Given the description of an element on the screen output the (x, y) to click on. 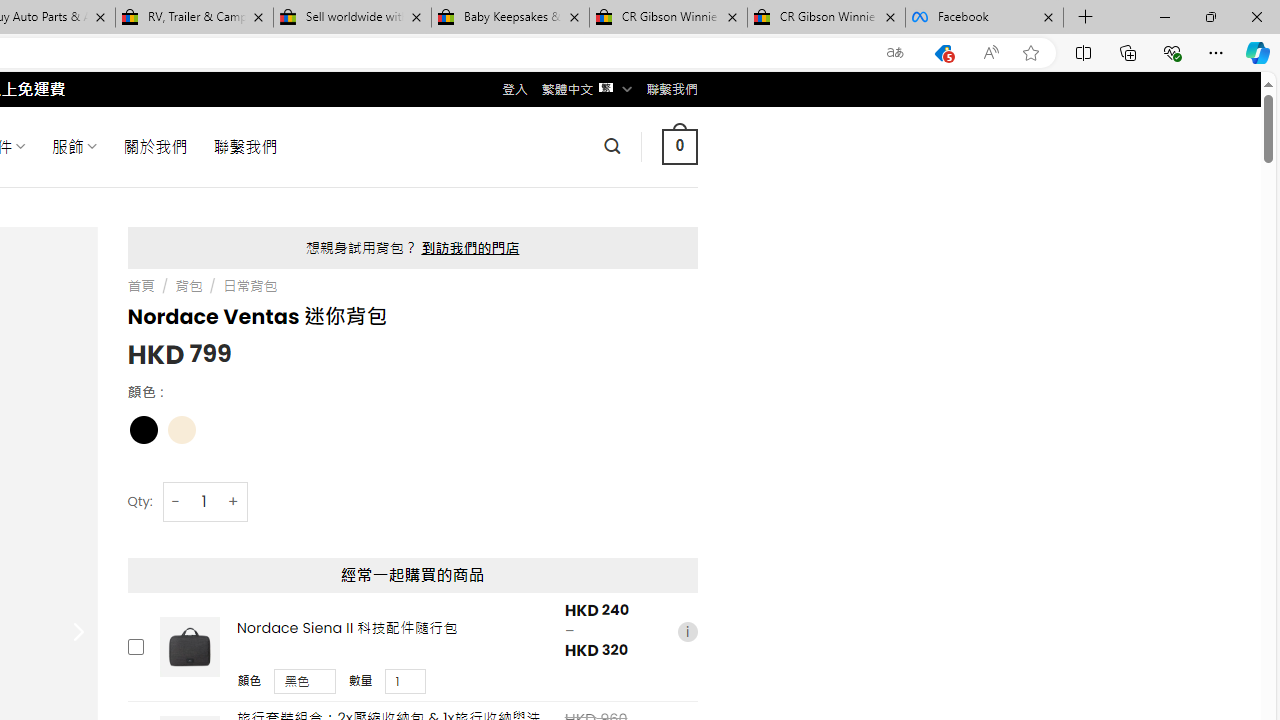
Add this product to cart (134, 647)
This site has coupons! Shopping in Microsoft Edge, 5 (943, 53)
